Given the description of an element on the screen output the (x, y) to click on. 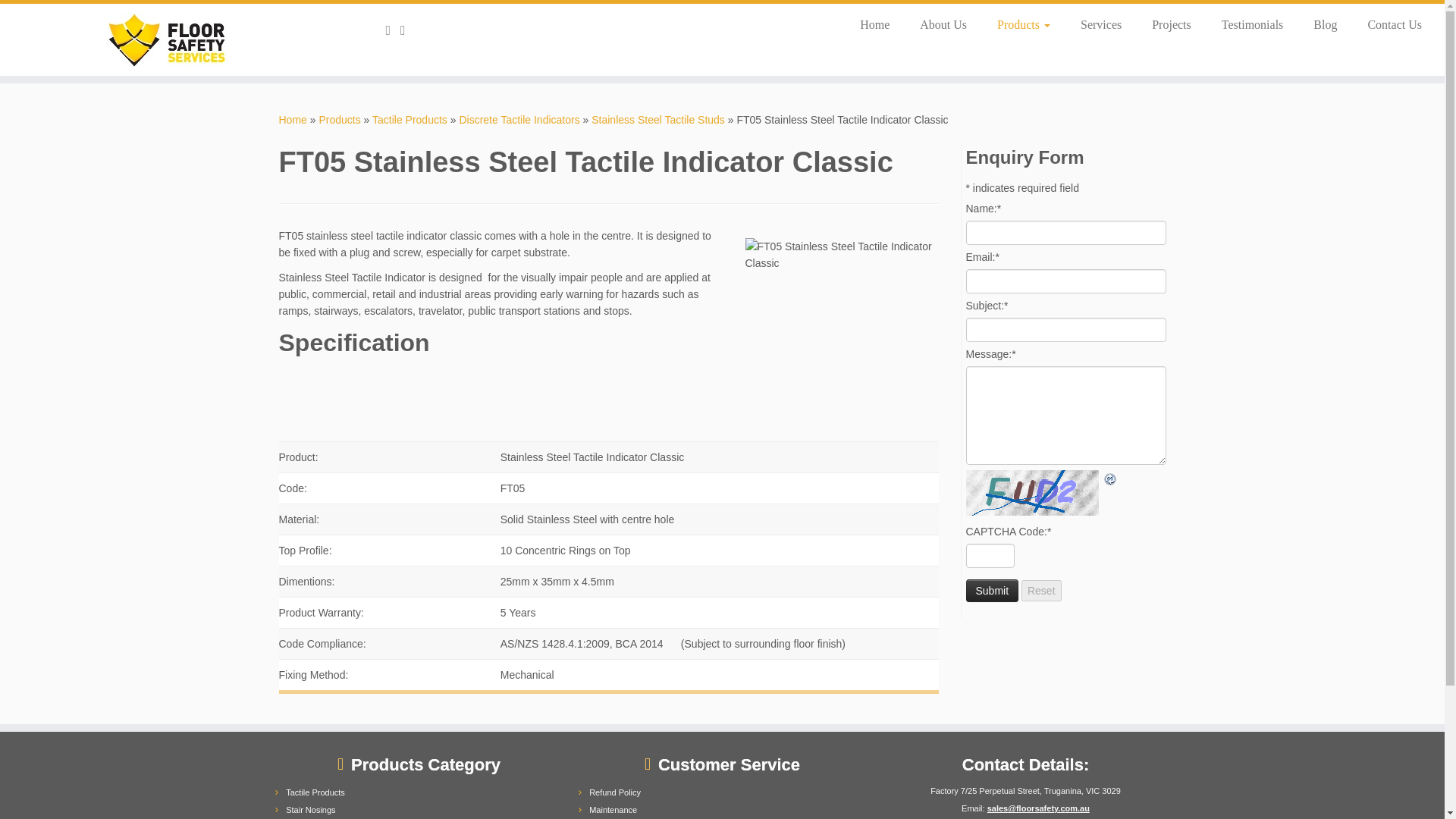
About Us (942, 24)
Tactile Products (409, 119)
Home (874, 24)
Follow us on Facebook-square (392, 29)
Products (1023, 24)
Products (338, 119)
CAPTCHA (1034, 492)
Discrete Tactile Indicators (518, 119)
Reset (1041, 590)
Submit (992, 590)
